Given the description of an element on the screen output the (x, y) to click on. 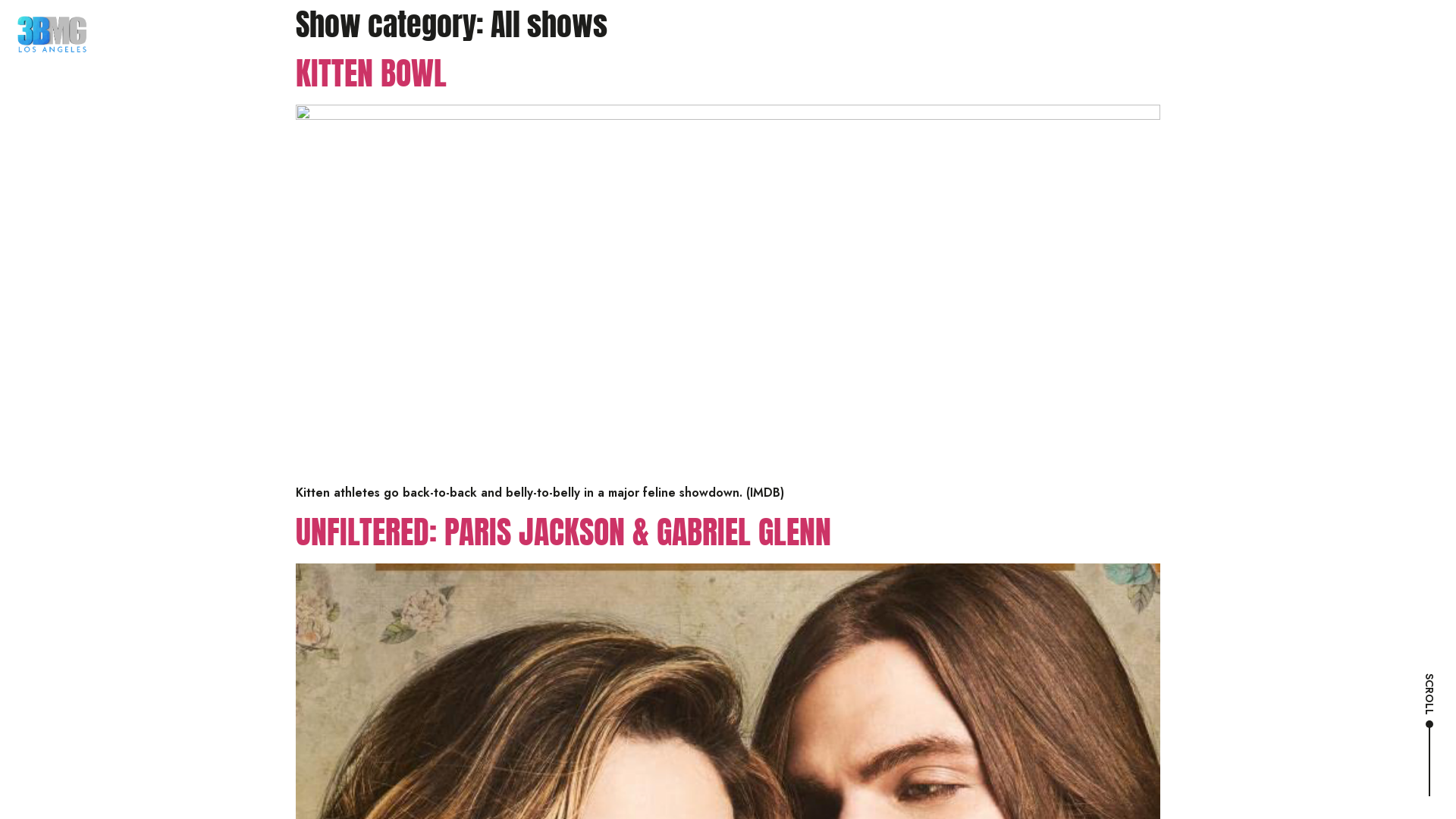
UNFILTERED: PARIS JACKSON & GABRIEL GLENN Element type: text (563, 531)
KITTEN BOWL Element type: text (370, 73)
